Given the description of an element on the screen output the (x, y) to click on. 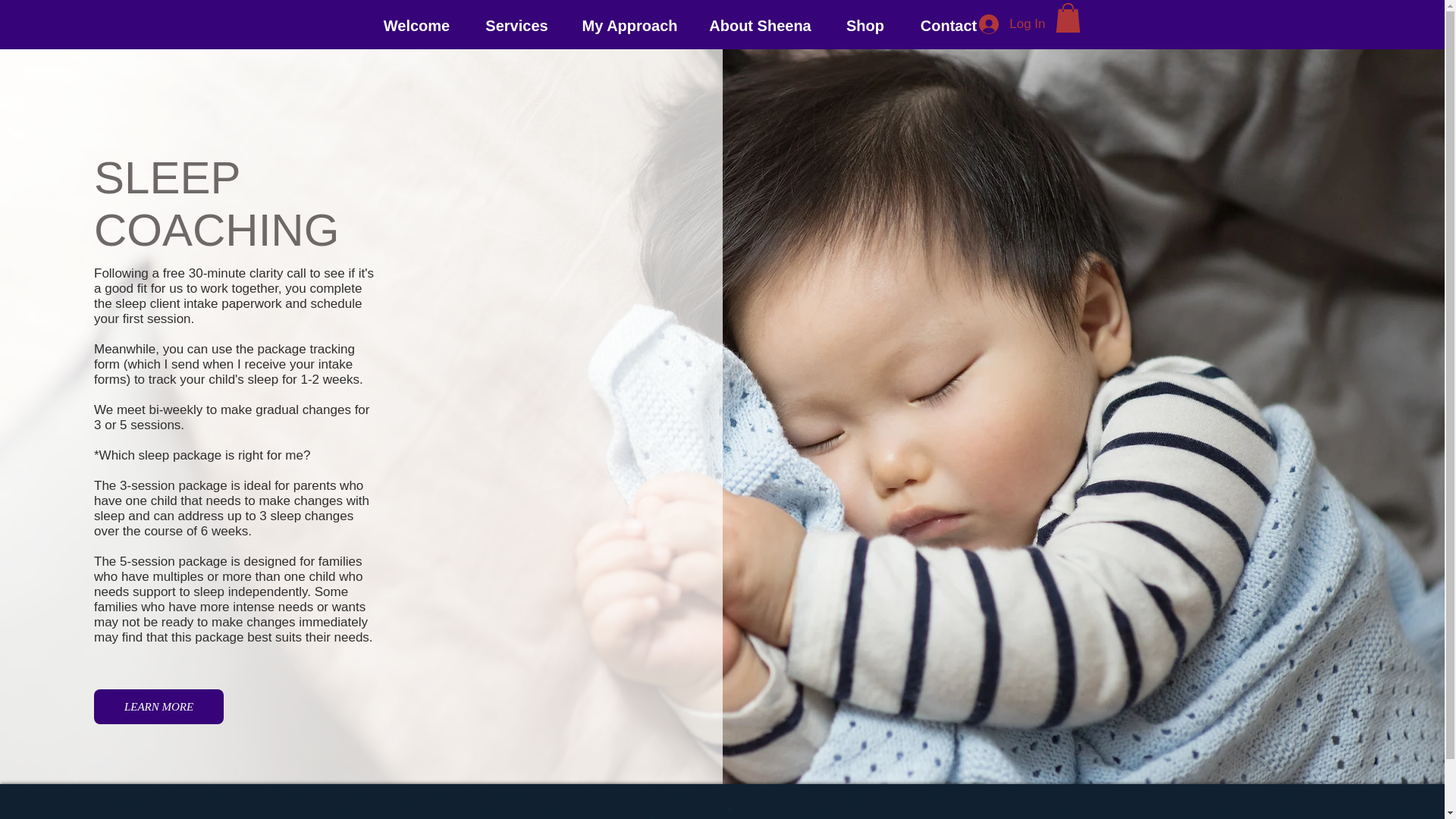
About Sheena (760, 24)
Welcome (416, 24)
Services (516, 24)
Log In (1011, 23)
Shop (864, 24)
Contact (949, 24)
My Approach (629, 24)
